Given the description of an element on the screen output the (x, y) to click on. 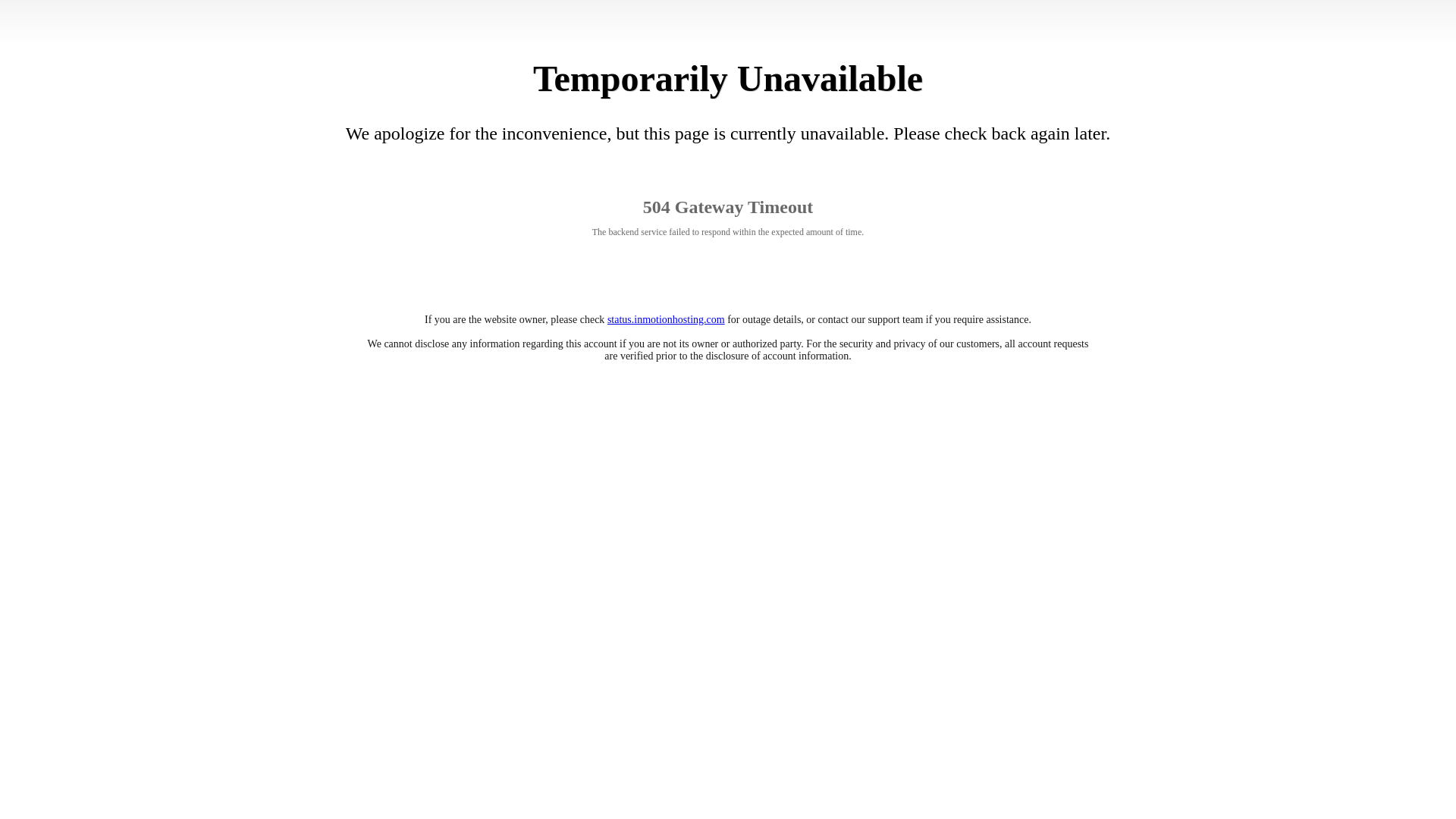
status.inmotionhosting.com (666, 319)
